Given the description of an element on the screen output the (x, y) to click on. 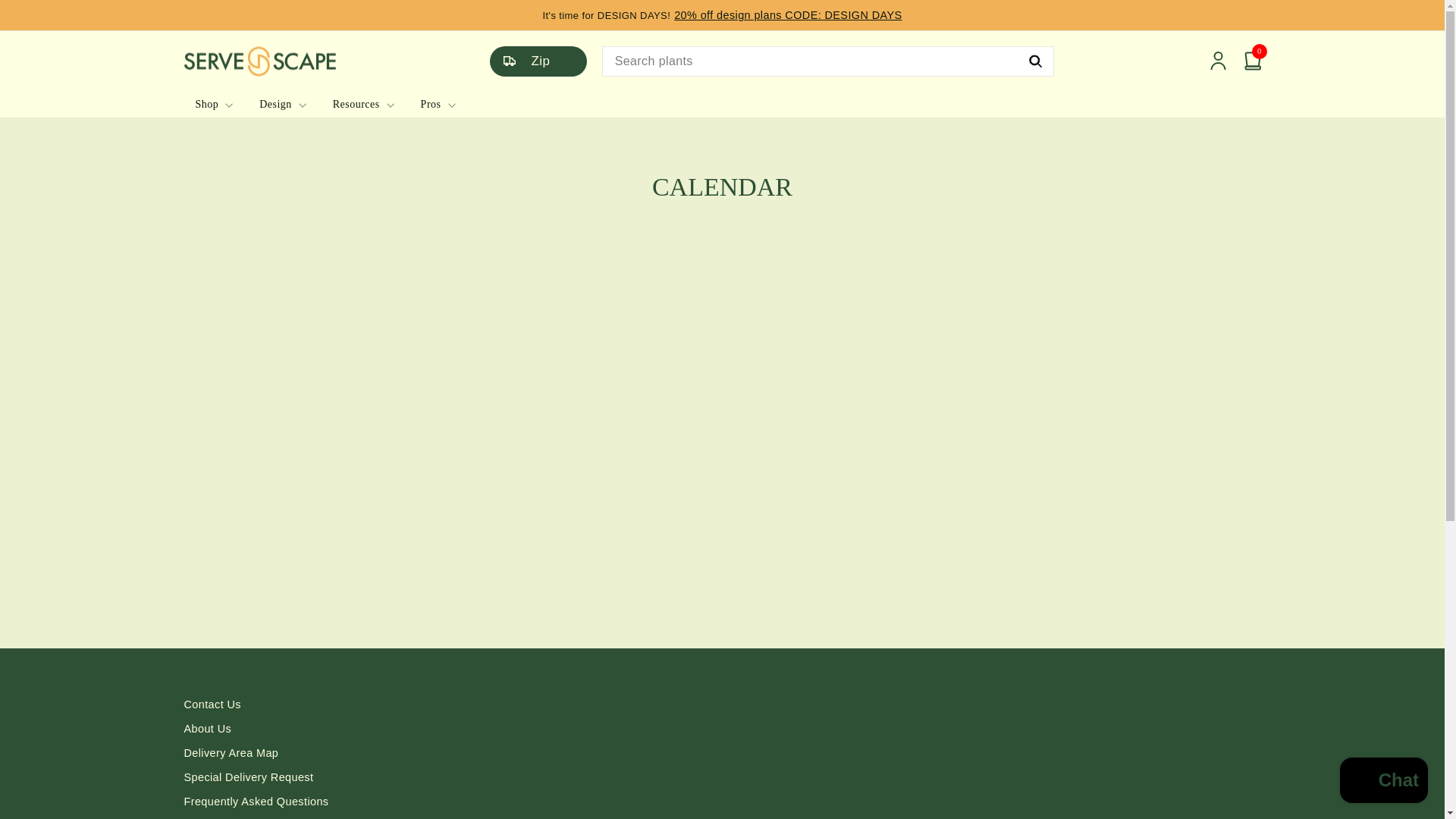
Zip (547, 60)
Shopify online store chat (1383, 781)
